Given the description of an element on the screen output the (x, y) to click on. 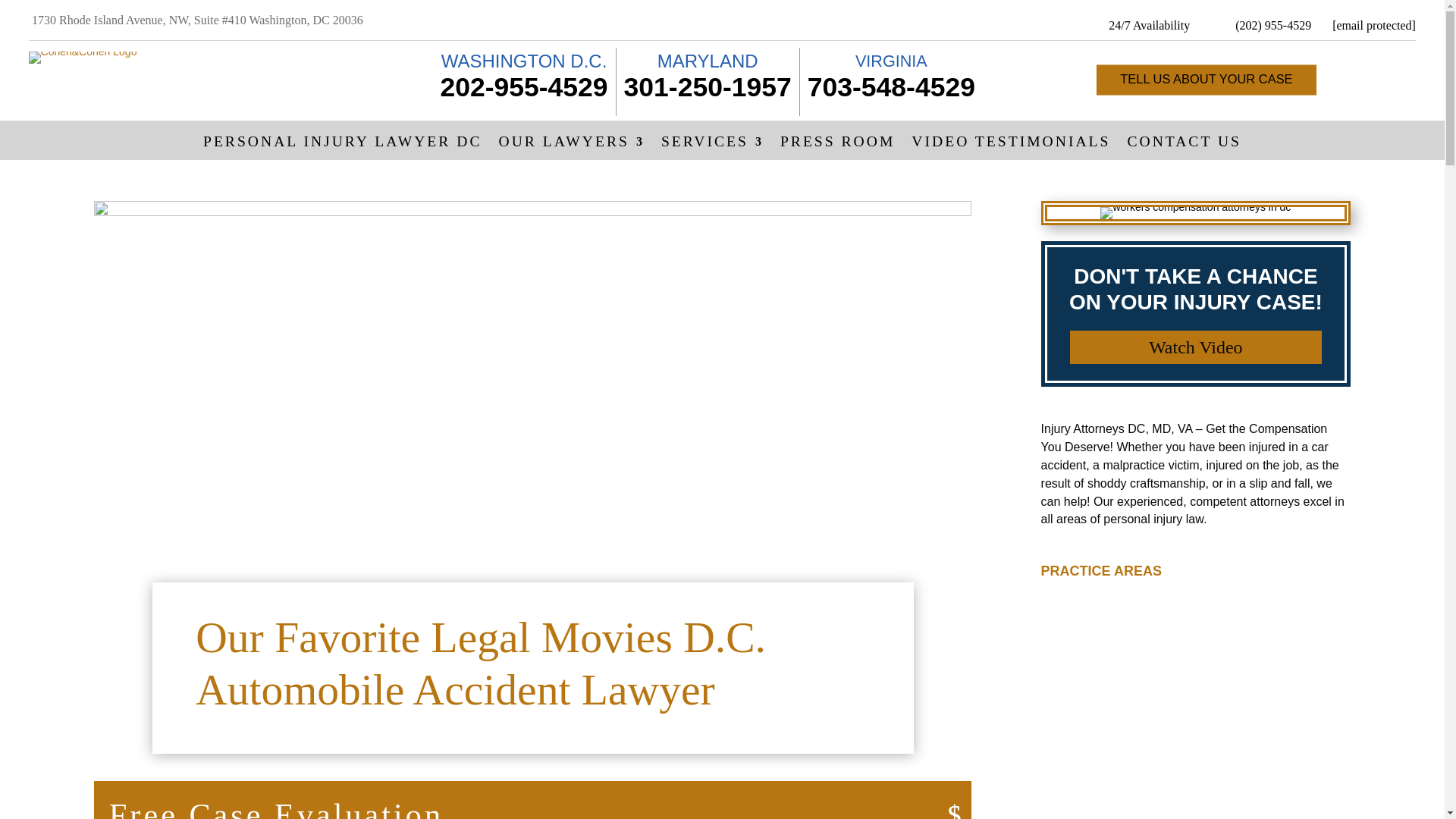
OUR LAWYERS (572, 144)
SERVICES (711, 144)
CONTACT US (1183, 144)
703-548-4529 (891, 87)
301-250-1957 (708, 87)
PRESS ROOM (837, 144)
TELL US ABOUT YOUR CASE (1208, 79)
VIDEO TESTIMONIALS (1010, 144)
202-955-4529 (523, 87)
PERSONAL INJURY LAWYER DC (342, 144)
